Given the description of an element on the screen output the (x, y) to click on. 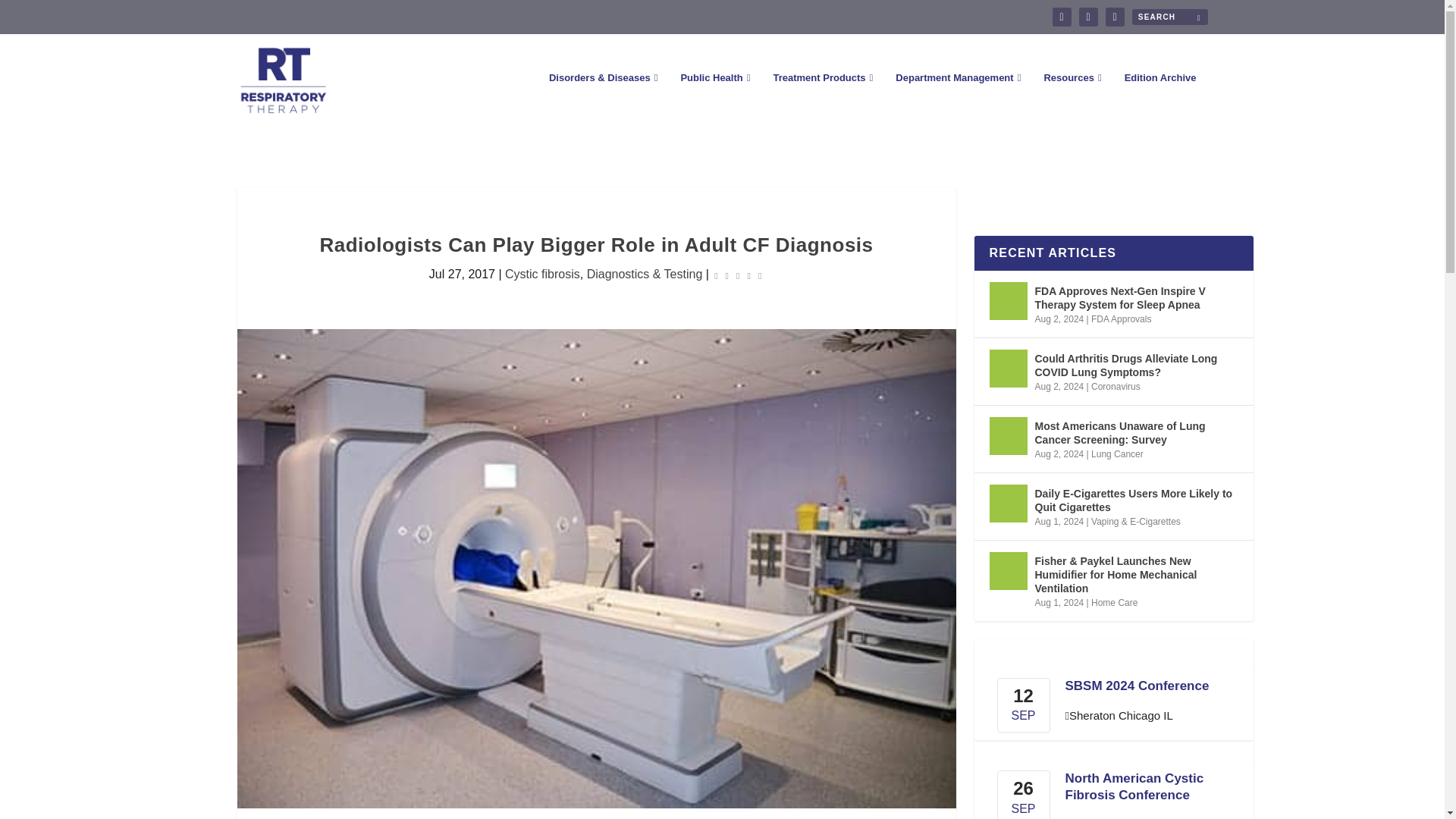
Rating: 0.00 (736, 274)
Treatment Products (822, 98)
Cystic fibrosis (542, 273)
Search for: (1169, 17)
Public Health (714, 98)
Department Management (957, 98)
Resources (1071, 98)
